Given the description of an element on the screen output the (x, y) to click on. 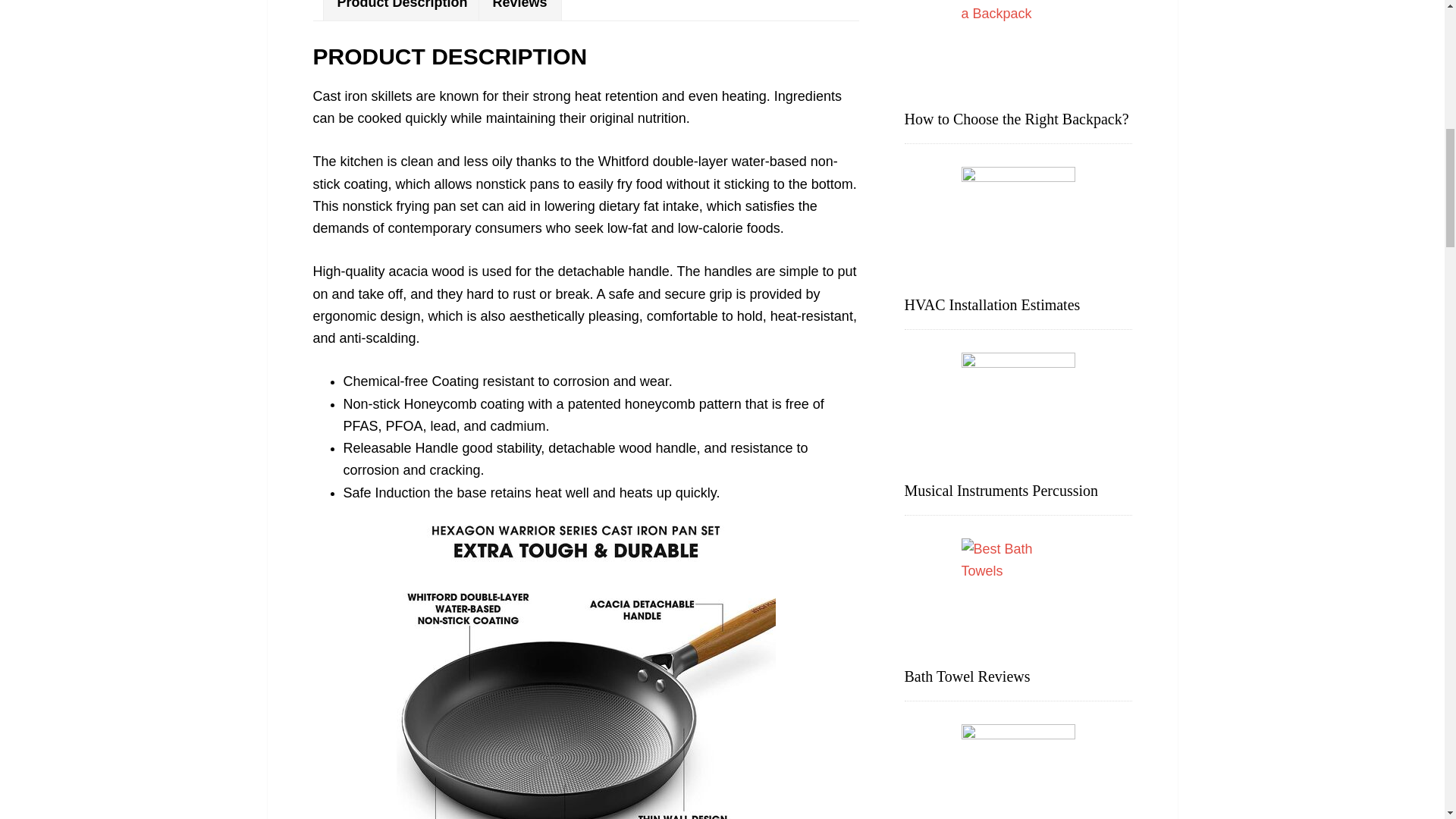
HVAC Installation Estimates (992, 304)
Product Description (401, 10)
Reviews (519, 10)
Musical Instruments Percussion (1000, 490)
How to Choose the Right Backpack? (1016, 118)
Bath Towel Reviews (966, 676)
